Given the description of an element on the screen output the (x, y) to click on. 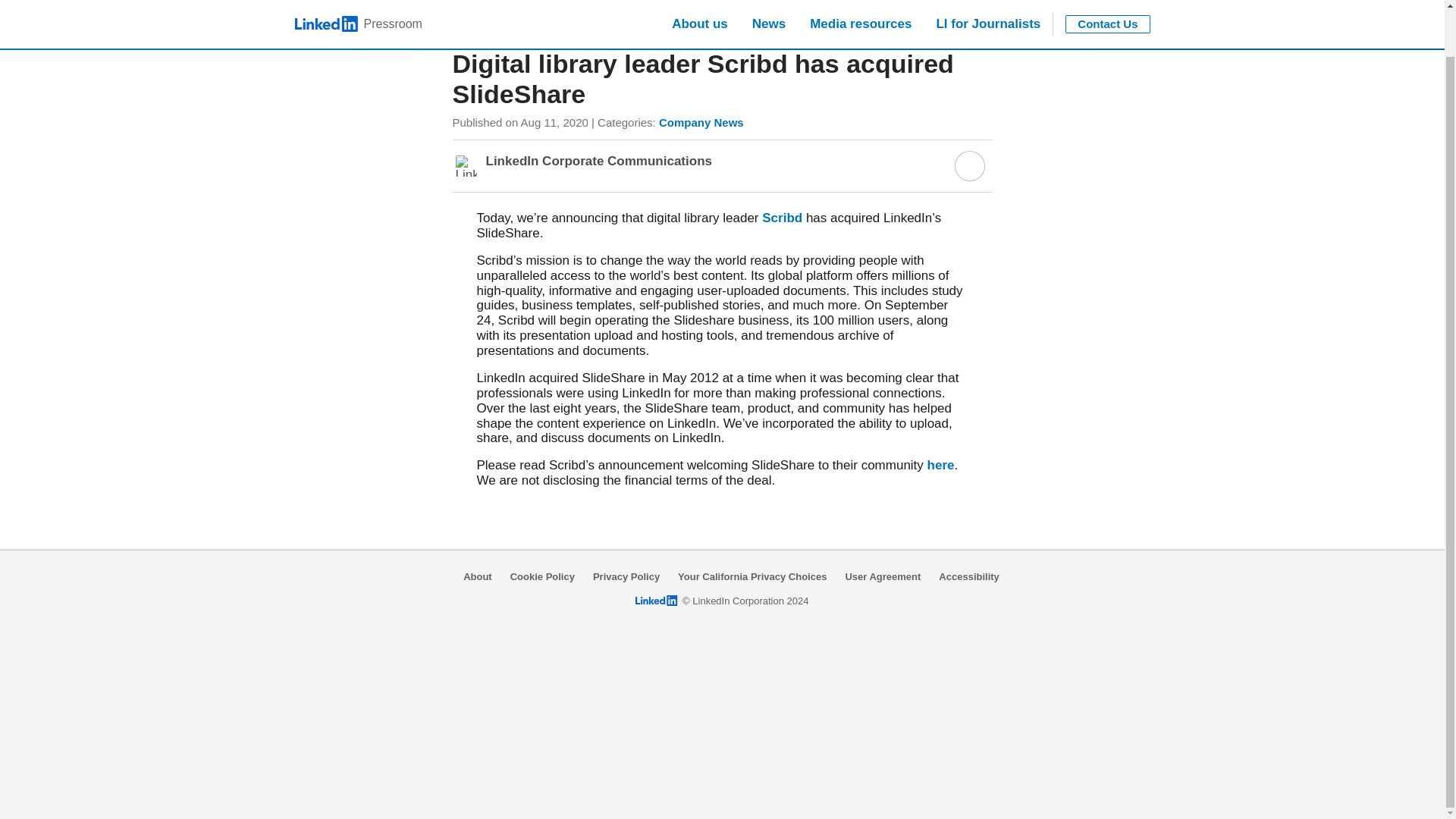
Company News (701, 122)
LinkedIn Corporate Communications (597, 160)
Accessibility (968, 576)
Privacy Policy (625, 576)
Scribd (781, 217)
Your California Privacy Choices (752, 576)
here (941, 464)
User Agreement (882, 576)
About (477, 576)
Cookie Policy (543, 576)
